Given the description of an element on the screen output the (x, y) to click on. 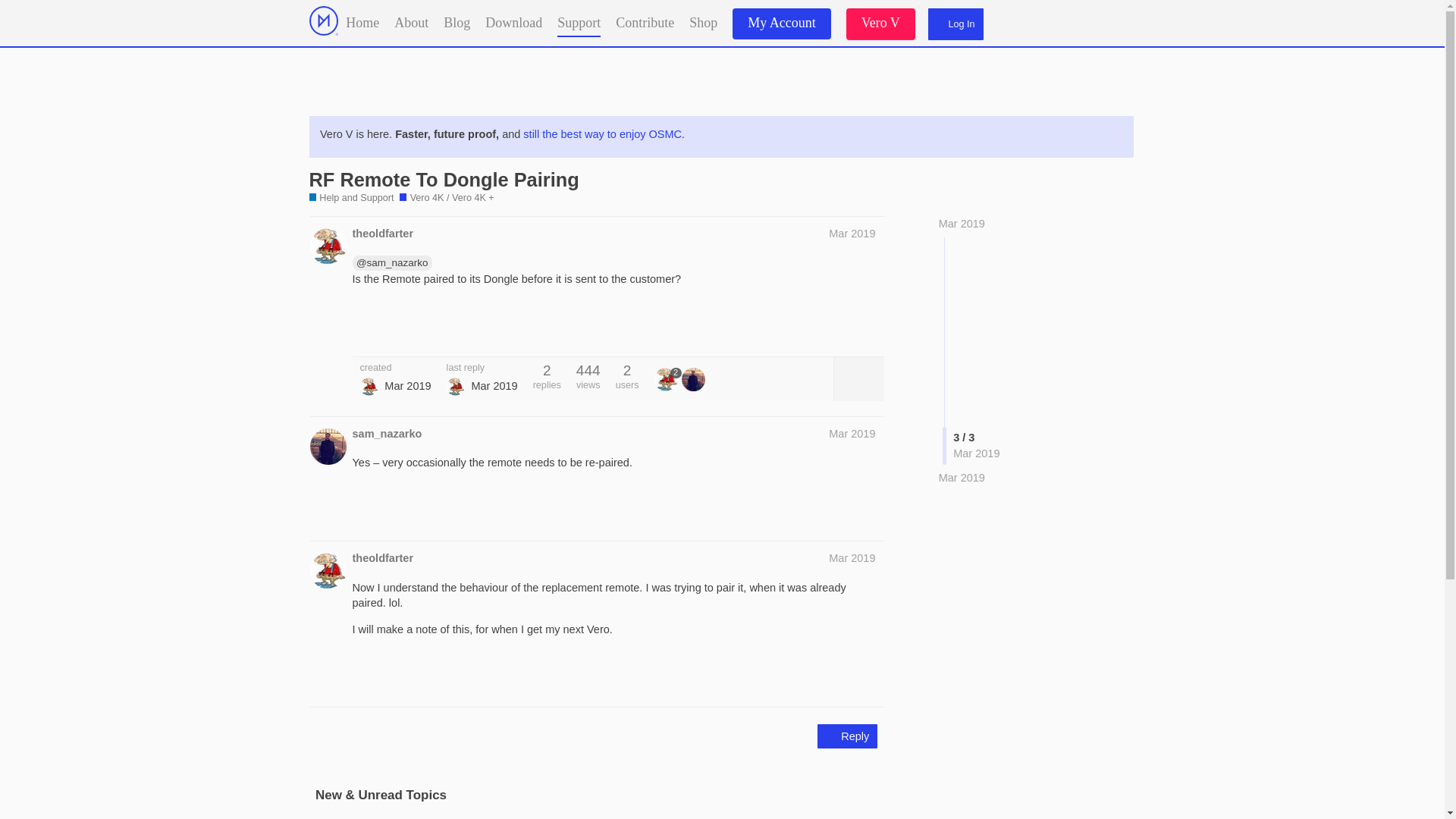
About (411, 22)
Shop (702, 22)
last reply (482, 368)
Help and Support (351, 198)
like this post (837, 328)
Download (512, 22)
theoldfarter (382, 233)
expand topic details (857, 379)
copy a link to this post to clipboard (869, 328)
